Given the description of an element on the screen output the (x, y) to click on. 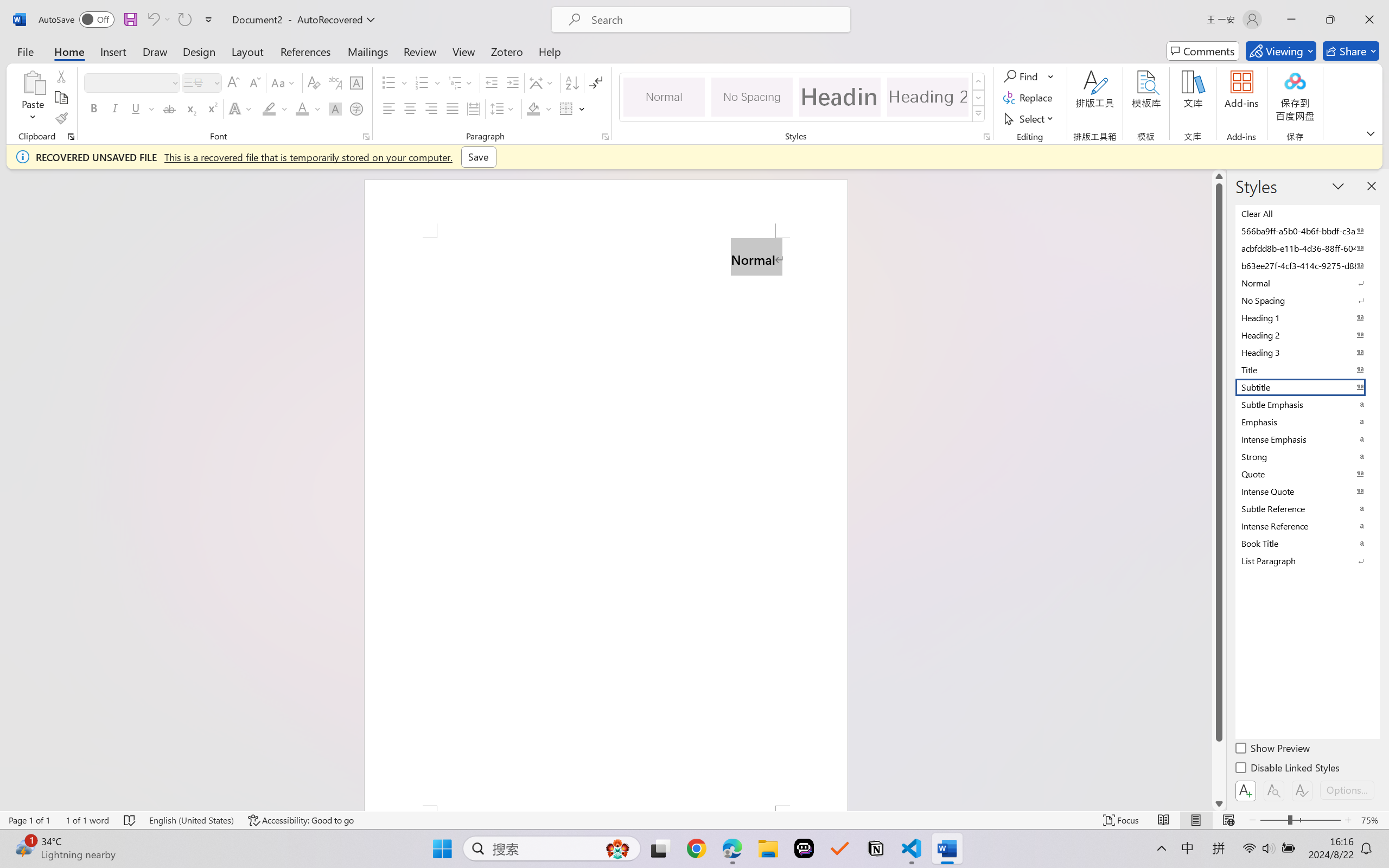
Enclose Characters... (356, 108)
Font Color (308, 108)
Line and Paragraph Spacing (503, 108)
Format Painter (60, 118)
Character Shading (334, 108)
Intense Quote (1306, 490)
Styles (978, 113)
Asian Layout (542, 82)
Mode (1280, 50)
